Given the description of an element on the screen output the (x, y) to click on. 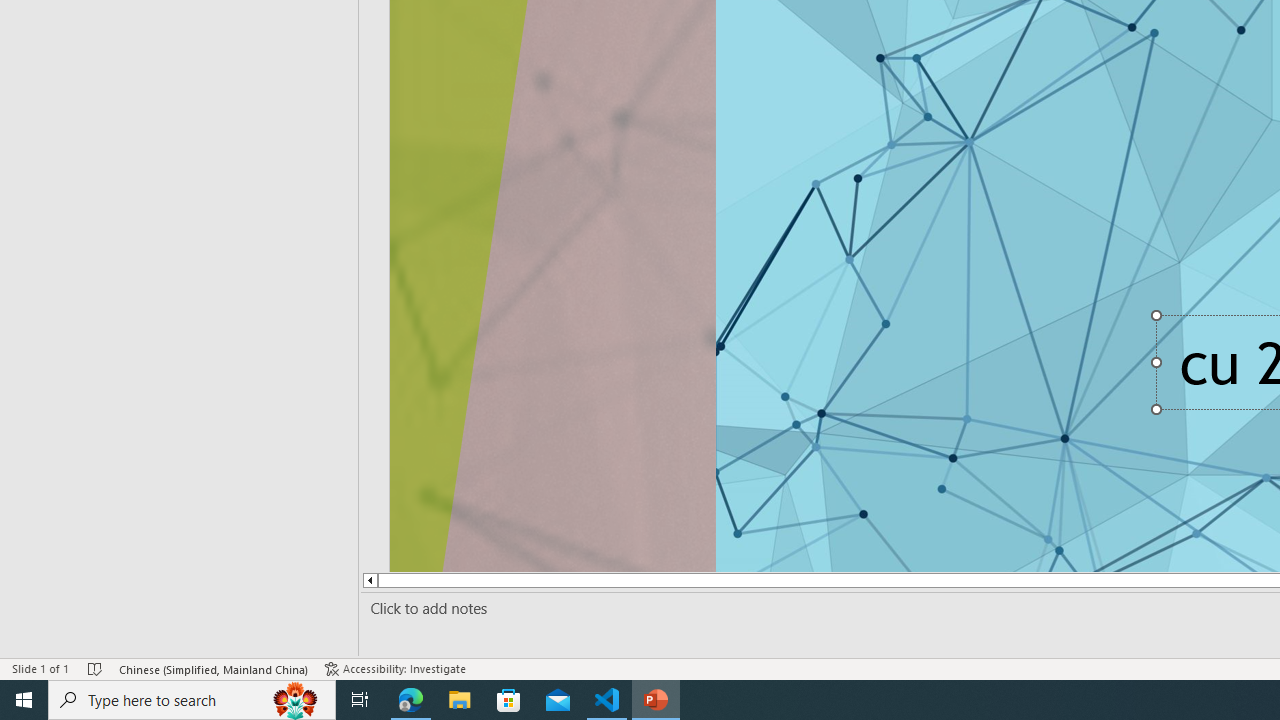
Accessibility Checker Accessibility: Investigate (397, 668)
Spell Check No Errors (95, 668)
